Given the description of an element on the screen output the (x, y) to click on. 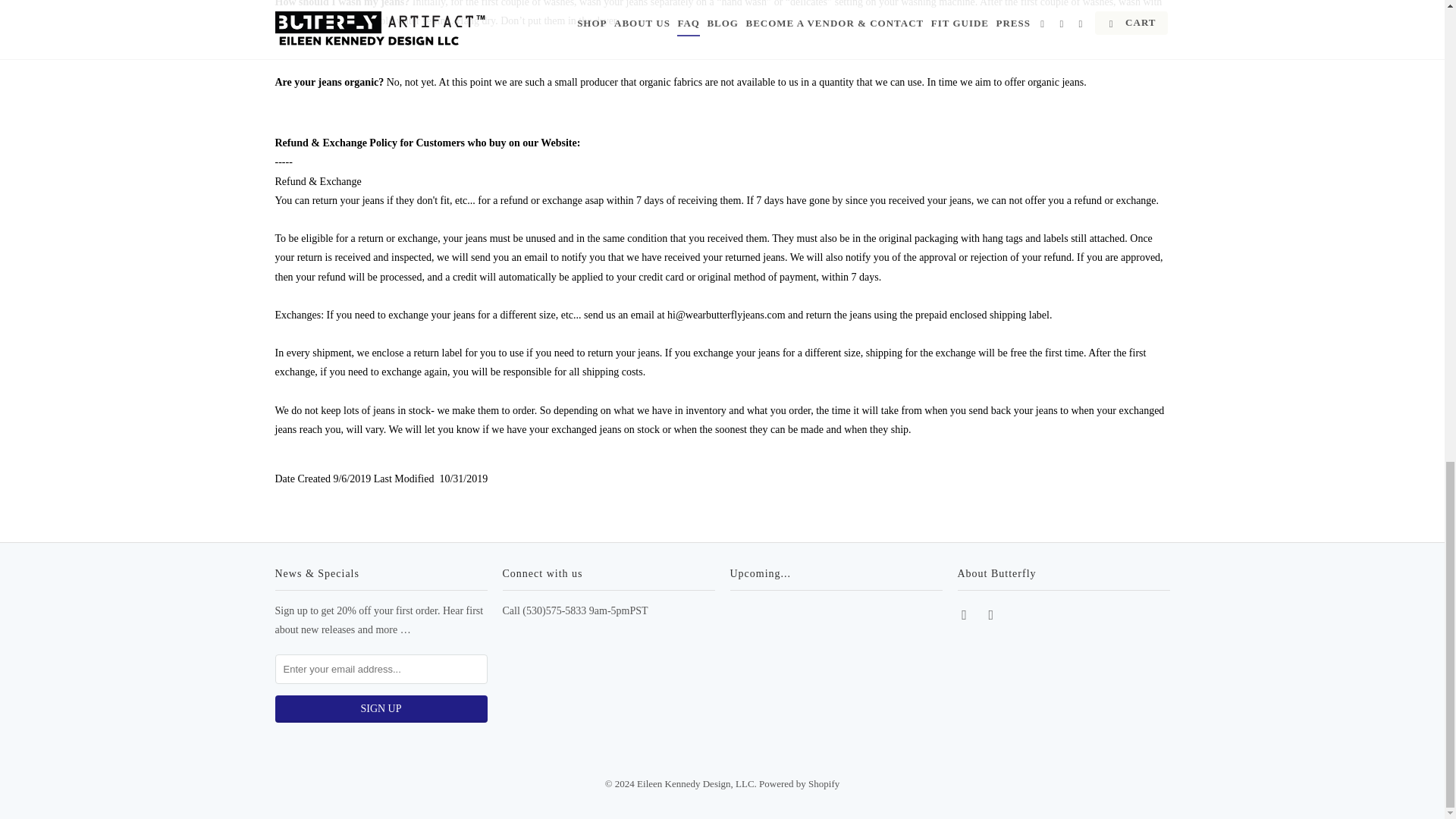
Sign Up (380, 708)
Sign Up (380, 708)
Eileen Kennedy Design, LLC (695, 783)
Eileen Kennedy Design, LLC on Facebook (965, 613)
Eileen Kennedy Design, LLC on Instagram (992, 613)
Powered by Shopify (799, 783)
